Given the description of an element on the screen output the (x, y) to click on. 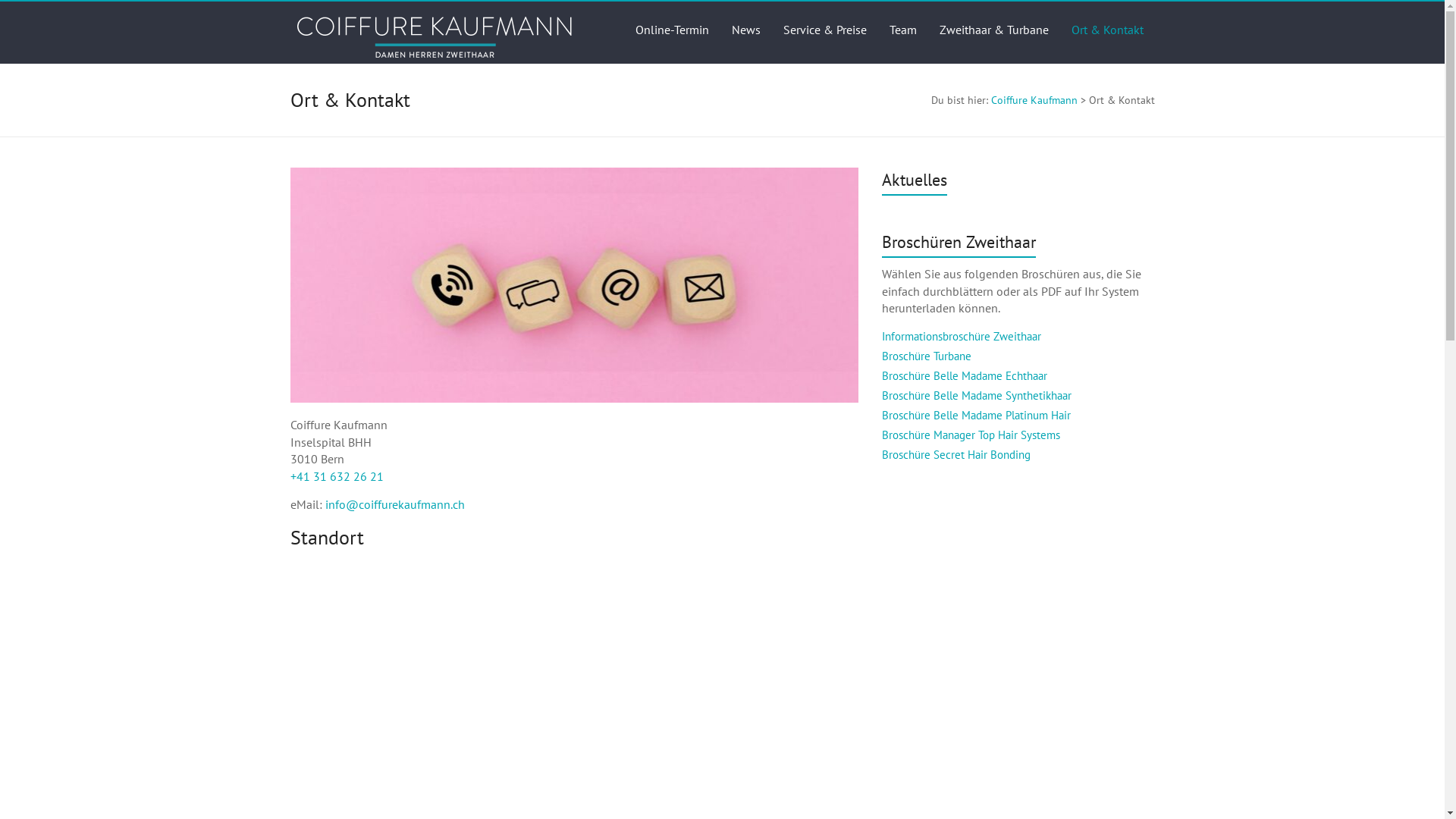
Zweithaar & Turbane Element type: text (993, 29)
Coiffure Kaufmann Element type: text (1033, 99)
News Element type: text (745, 29)
Ort & Kontakt Element type: text (1106, 29)
+41 31 632 26 21 Element type: text (335, 475)
info@coiffurekaufmann.ch Element type: text (394, 503)
Service & Preise Element type: text (824, 29)
Online-Termin Element type: text (672, 29)
Ort & Kontakt Element type: hover (573, 284)
Team Element type: text (902, 29)
